Given the description of an element on the screen output the (x, y) to click on. 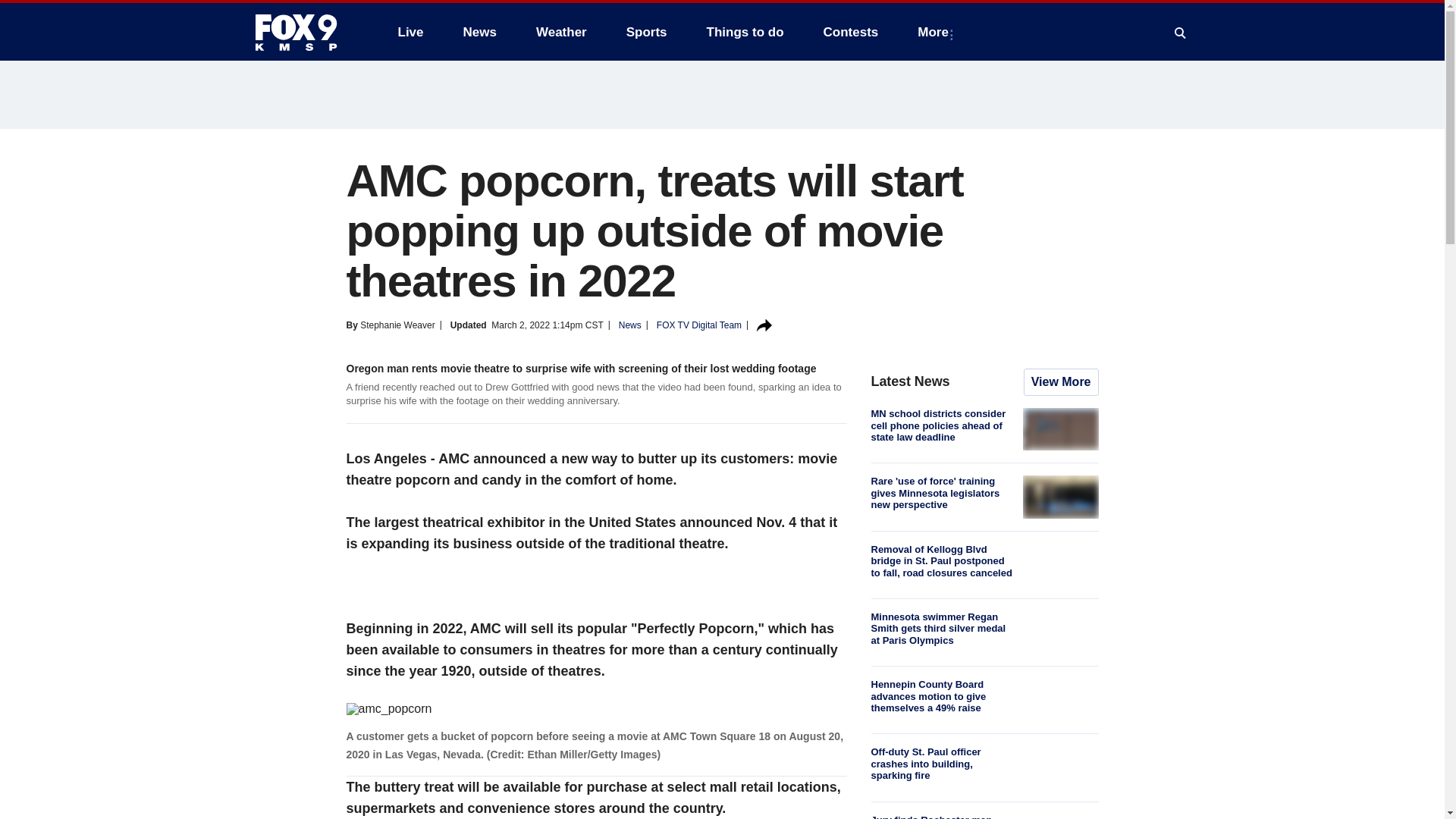
Sports (646, 32)
More (935, 32)
News (479, 32)
Live (410, 32)
Weather (561, 32)
Contests (850, 32)
Things to do (745, 32)
